Given the description of an element on the screen output the (x, y) to click on. 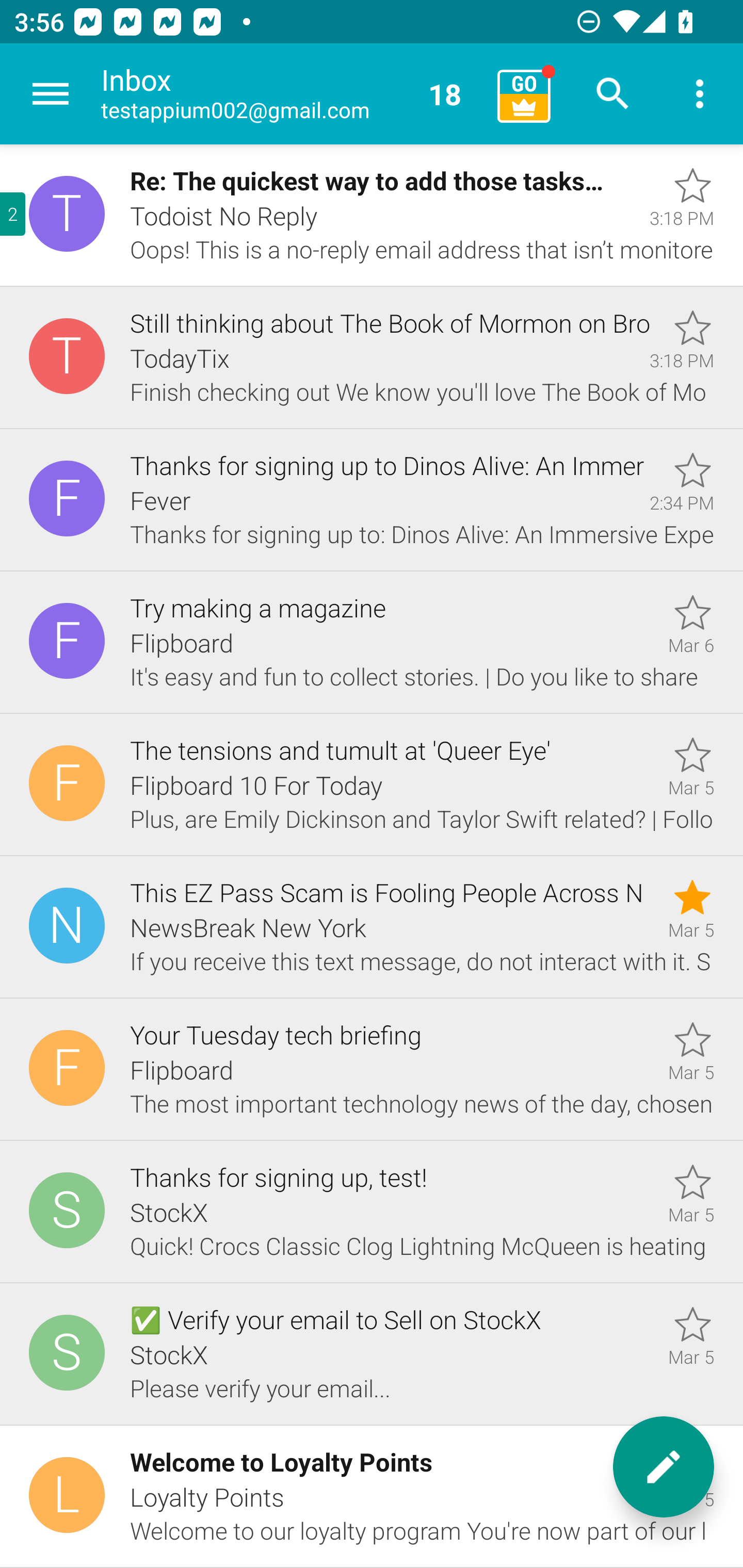
Navigate up (50, 93)
Inbox testappium002@gmail.com 18 (291, 93)
Search (612, 93)
More options (699, 93)
New message (663, 1466)
